Given the description of an element on the screen output the (x, y) to click on. 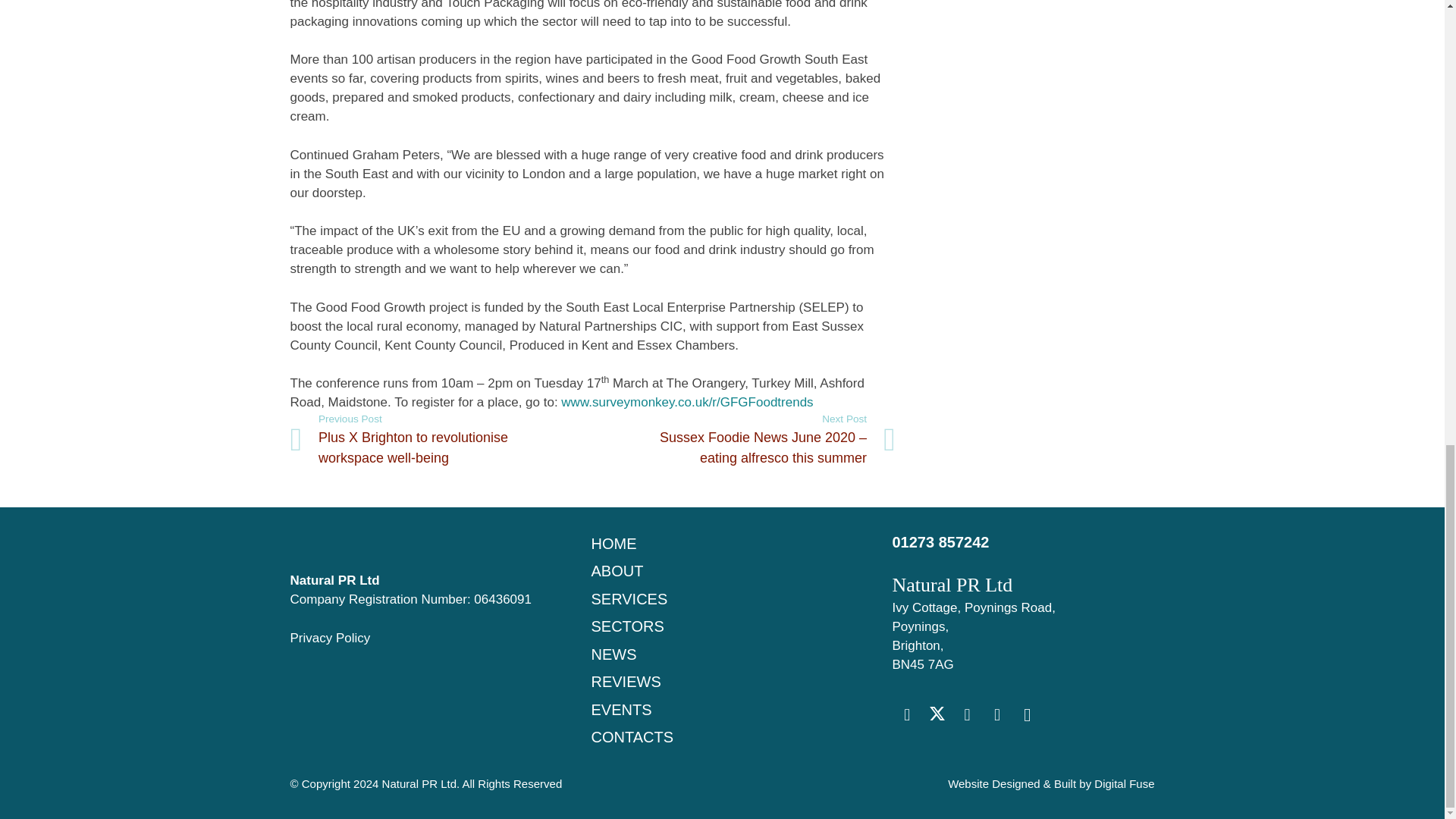
EVENTS (620, 709)
CONTACTS (631, 736)
NEWS (613, 654)
Privacy Policy (329, 637)
SERVICES (628, 598)
HOME (613, 543)
ABOUT (617, 570)
SECTORS (627, 626)
REVIEWS (626, 681)
